Given the description of an element on the screen output the (x, y) to click on. 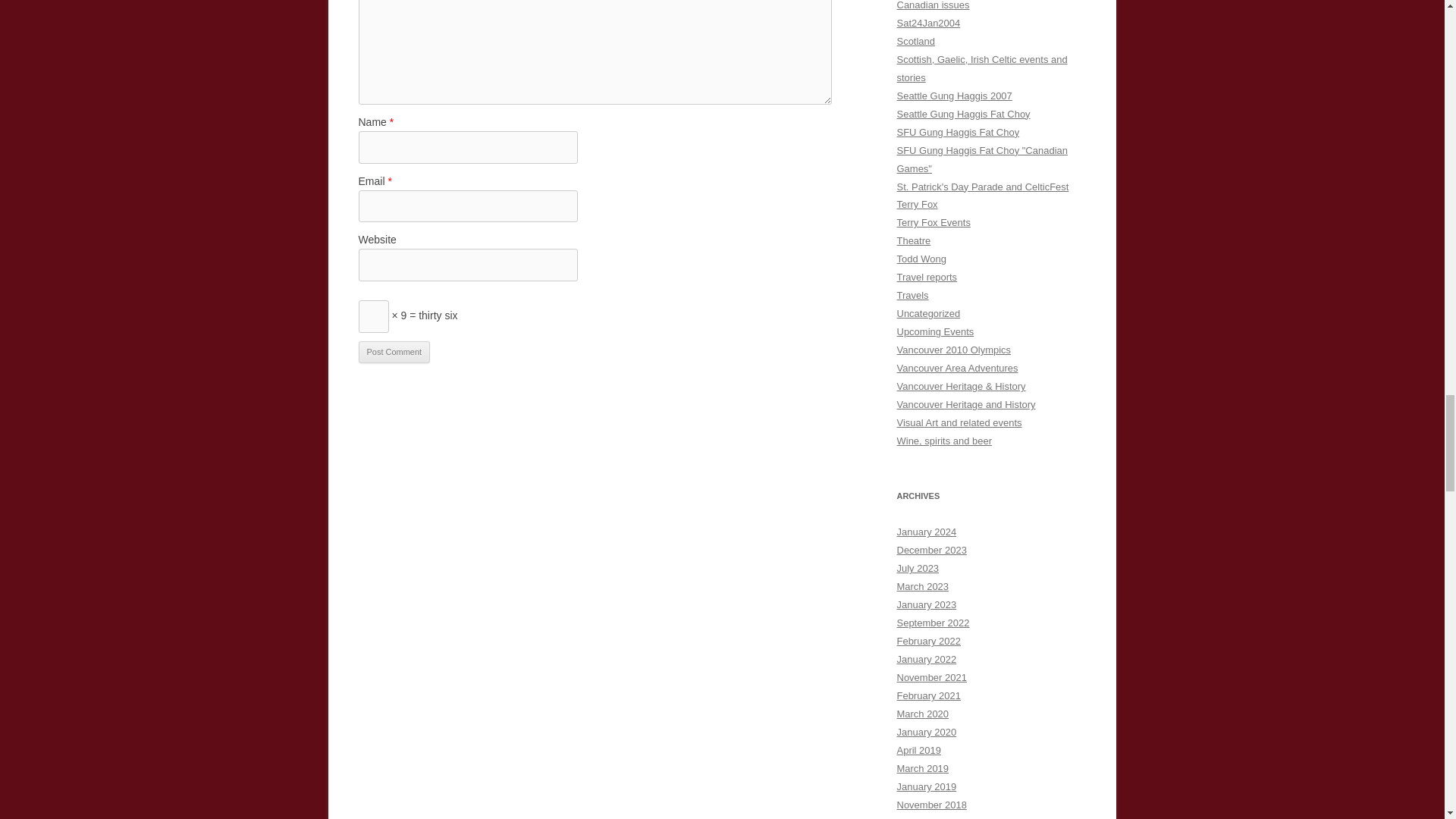
Post Comment (393, 352)
Post Comment (393, 352)
